Given the description of an element on the screen output the (x, y) to click on. 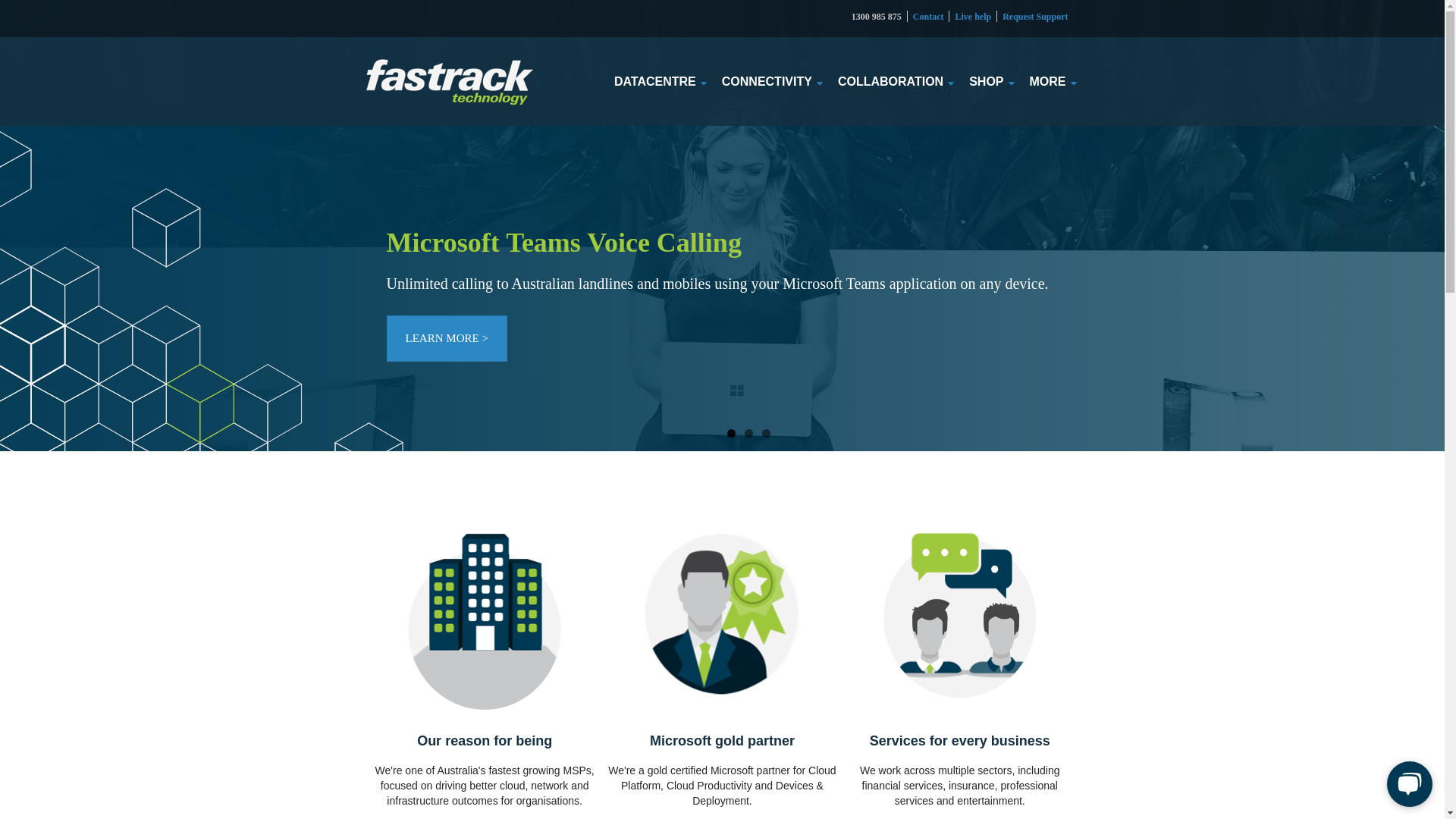
MORE Element type: text (1047, 81)
Contact Element type: text (928, 16)
DATACENTRE Element type: text (655, 81)
1 Element type: text (730, 433)
3 Element type: text (765, 433)
SHOP Element type: text (986, 81)
1300 985 875 Element type: text (876, 16)
COLLABORATION Element type: text (890, 81)
Logo_dark-bg_300px.png Element type: hover (448, 81)
Live help Element type: text (972, 16)
CONNECTIVITY Element type: text (766, 81)
LEARN MORE > Element type: text (446, 338)
Request Support Element type: text (1034, 16)
2 Element type: text (748, 433)
